Given the description of an element on the screen output the (x, y) to click on. 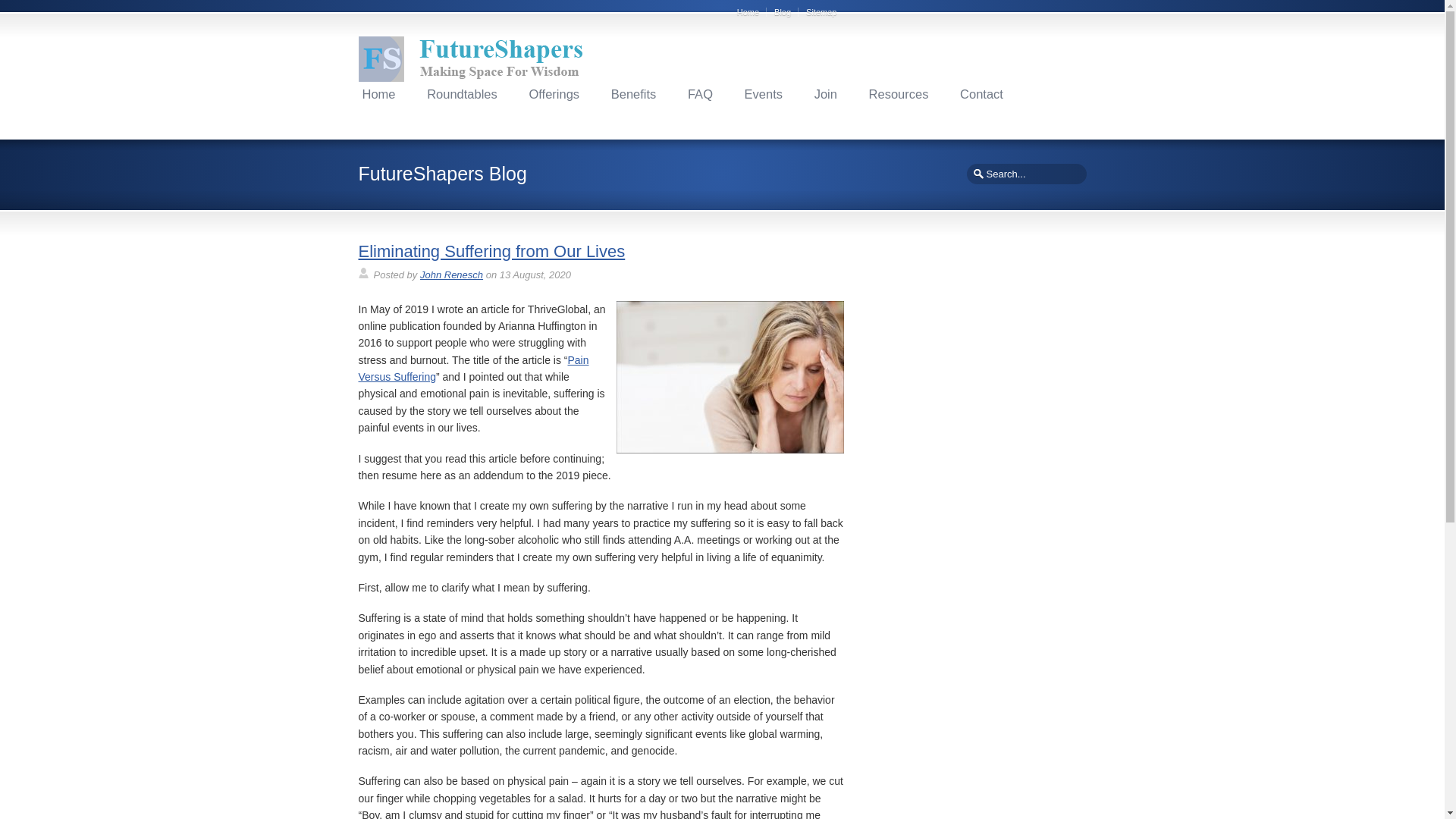
Offerings (553, 94)
FutureShapers Home (378, 94)
Blog (785, 11)
Roundtables (461, 94)
Home (378, 94)
Posts by John Renesch (451, 274)
FAQ (700, 94)
Search... (1024, 173)
Resources (898, 94)
John Renesch (451, 274)
